Given the description of an element on the screen output the (x, y) to click on. 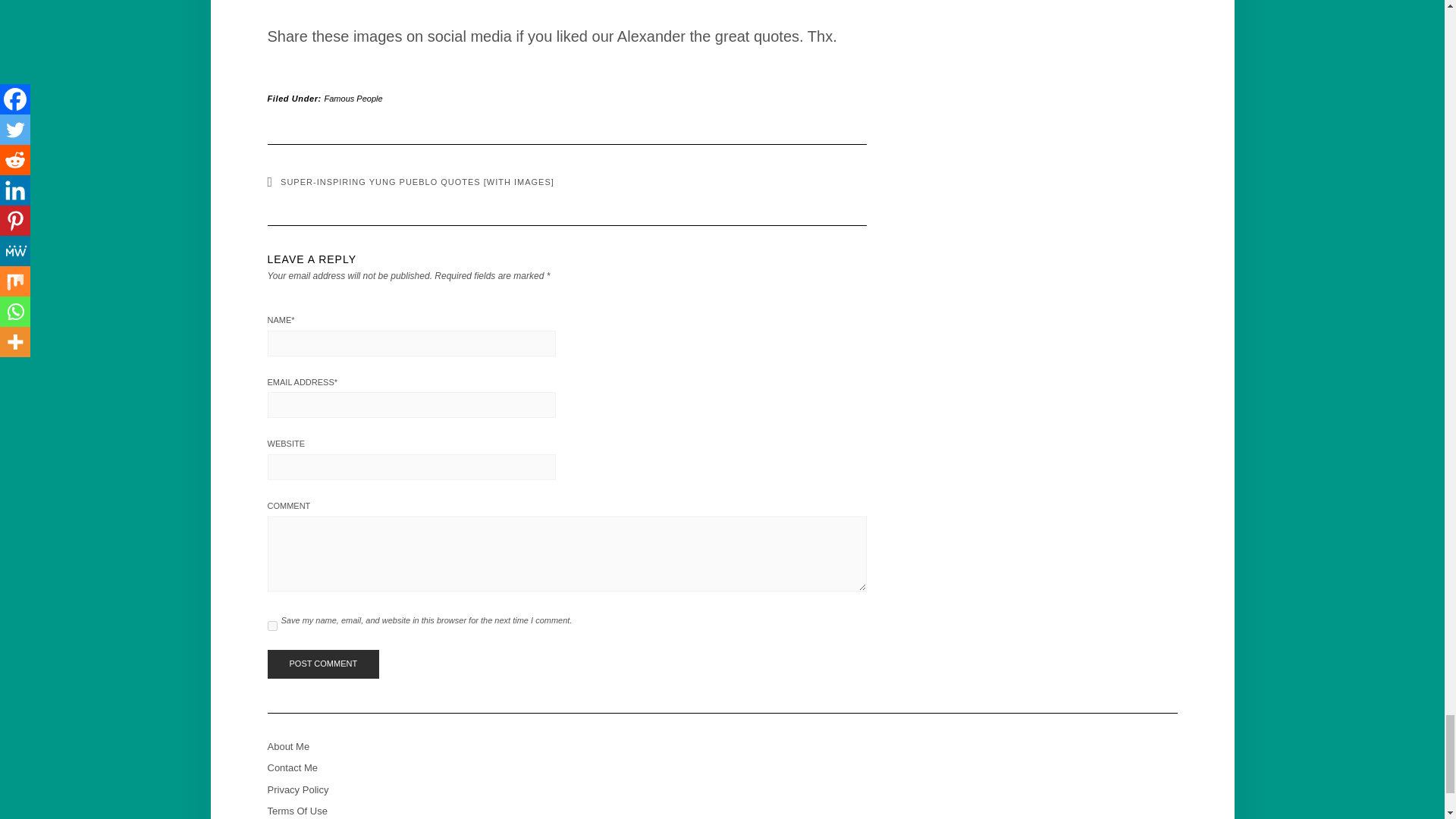
Famous People (353, 98)
About Me (287, 746)
Contact Me (291, 767)
yes (271, 625)
Post Comment (322, 664)
Post Comment (322, 664)
